Given the description of an element on the screen output the (x, y) to click on. 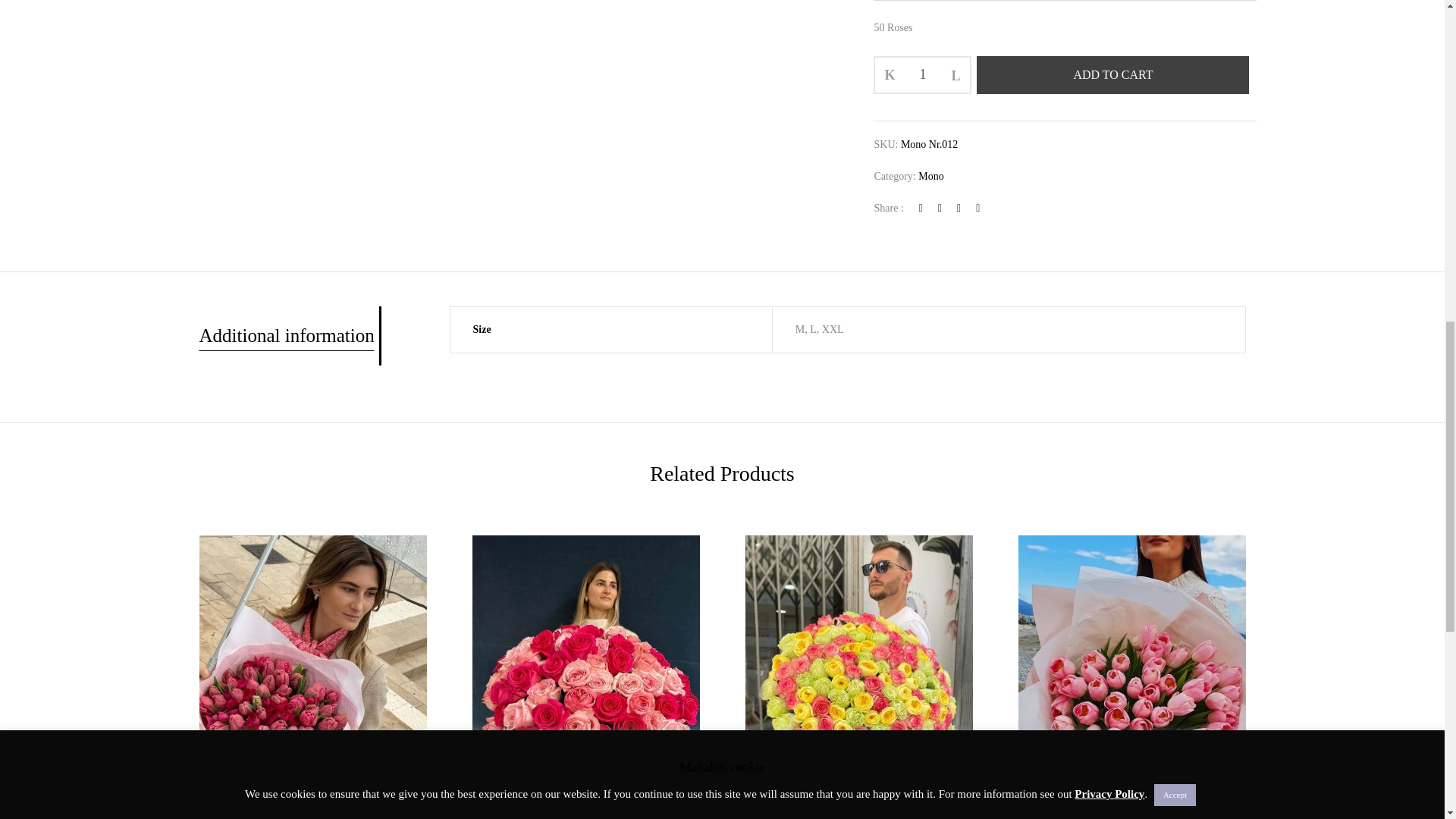
Mono (930, 175)
ADD TO CART (1112, 75)
1 (922, 74)
